Given the description of an element on the screen output the (x, y) to click on. 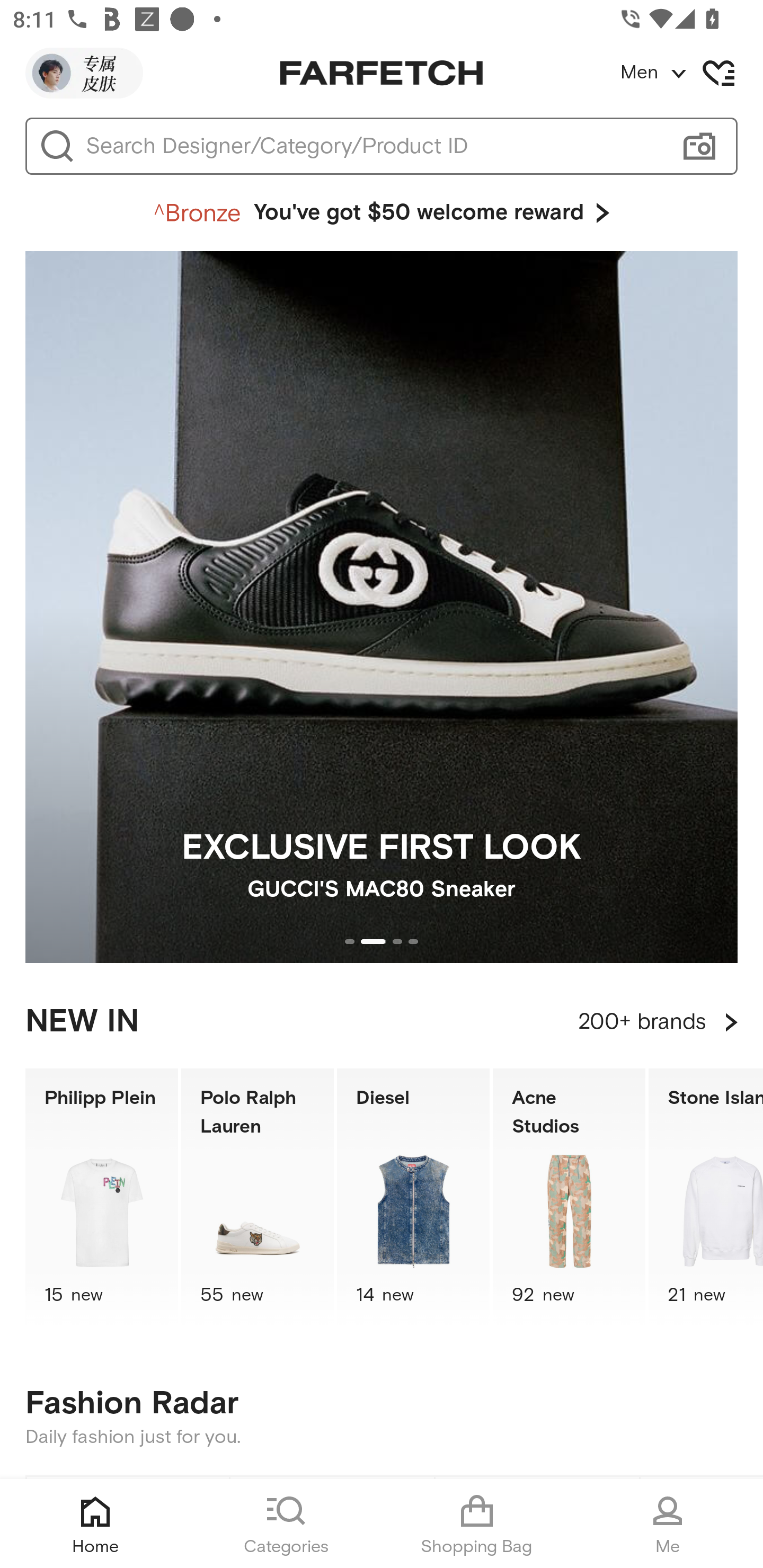
Men (691, 72)
Search Designer/Category/Product ID (373, 146)
You've got $50 welcome reward (381, 213)
NEW IN 200+ brands (381, 1021)
Philipp Plein 15  new (101, 1196)
Polo Ralph Lauren 55  new (257, 1196)
Diesel 14  new (413, 1196)
Acne Studios 92  new (568, 1196)
Stone Island 21  new (705, 1196)
Categories (285, 1523)
Shopping Bag (476, 1523)
Me (667, 1523)
